Given the description of an element on the screen output the (x, y) to click on. 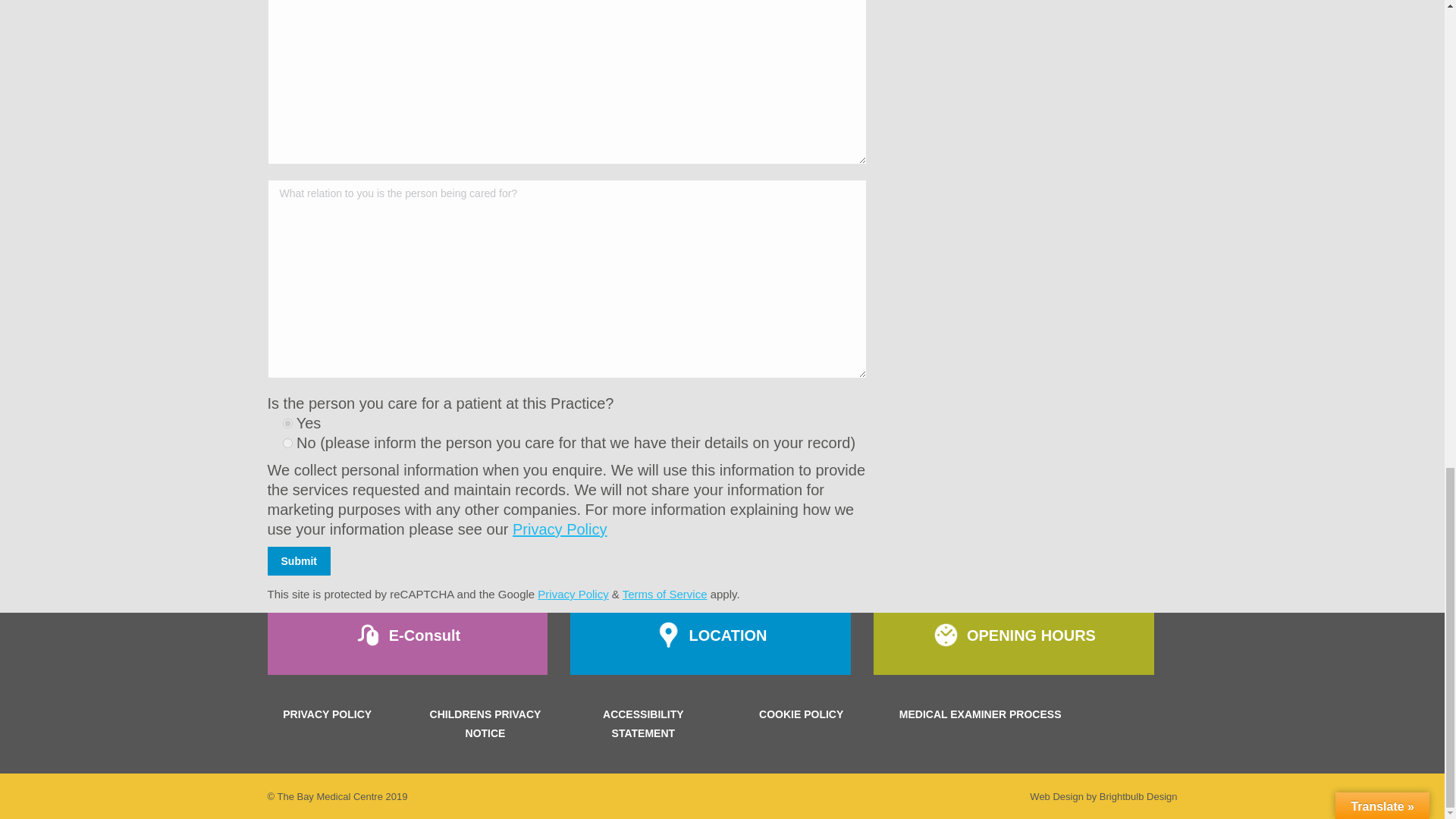
Yes (287, 423)
Location (710, 643)
Submit (298, 561)
